Given the description of an element on the screen output the (x, y) to click on. 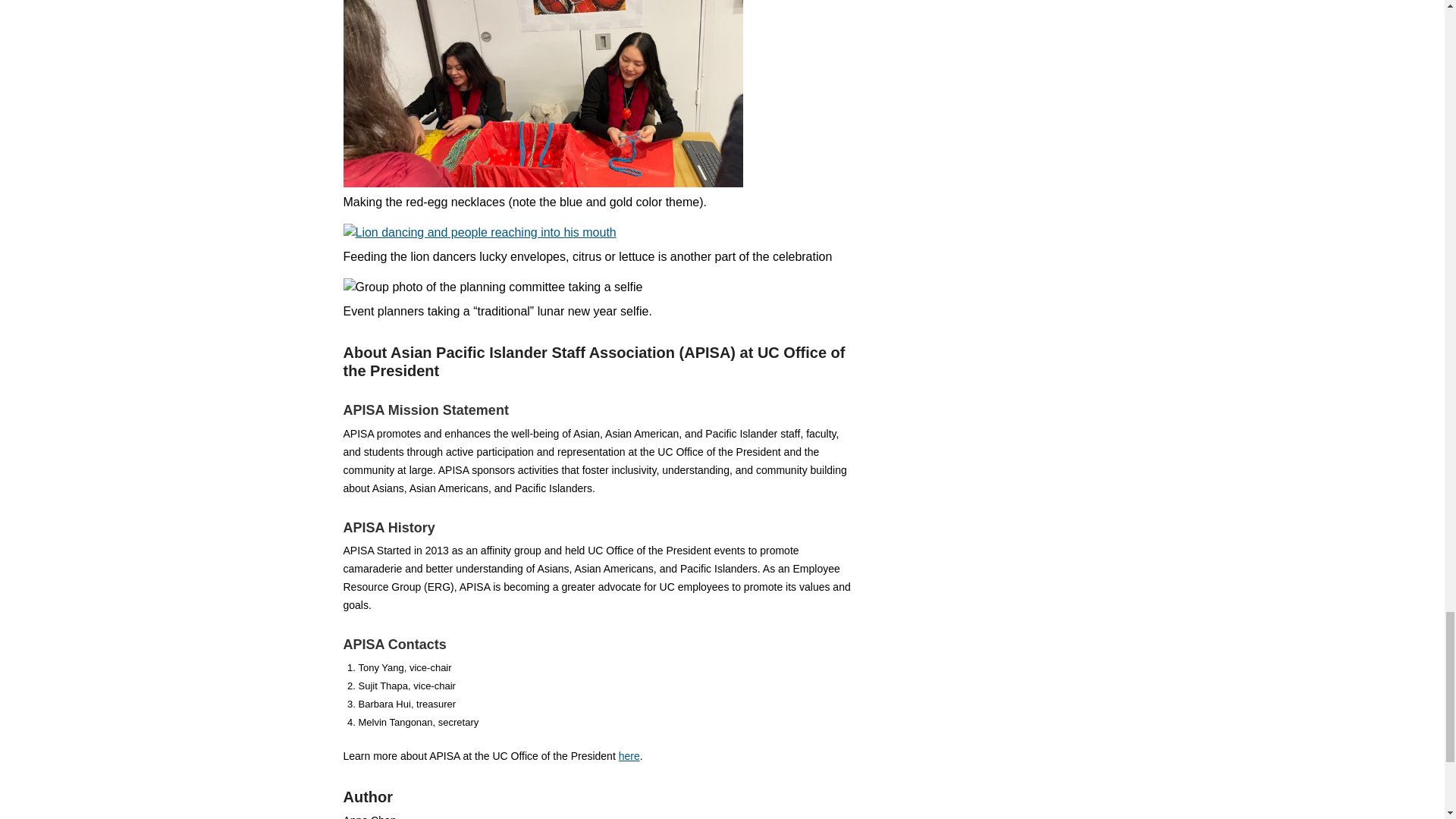
here (629, 756)
